Given the description of an element on the screen output the (x, y) to click on. 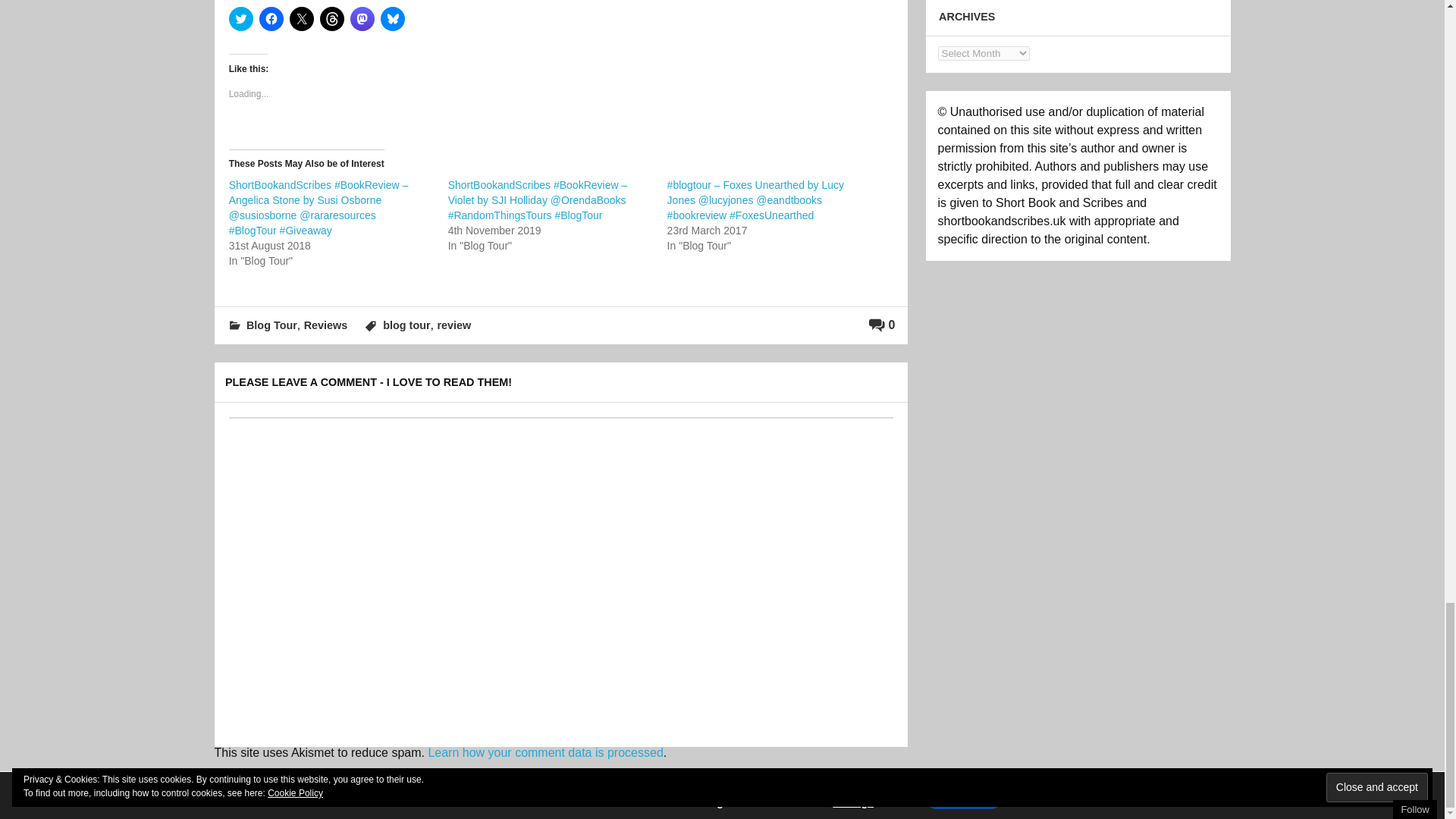
0 (882, 324)
Click to share on X (301, 18)
Click to share on Mastodon (362, 18)
Blog Tour (271, 325)
Reviews (325, 325)
Click to share on Bluesky (392, 18)
Click to share on Threads (331, 18)
Click to share on Facebook (271, 18)
Click to share on Twitter (240, 18)
